Given the description of an element on the screen output the (x, y) to click on. 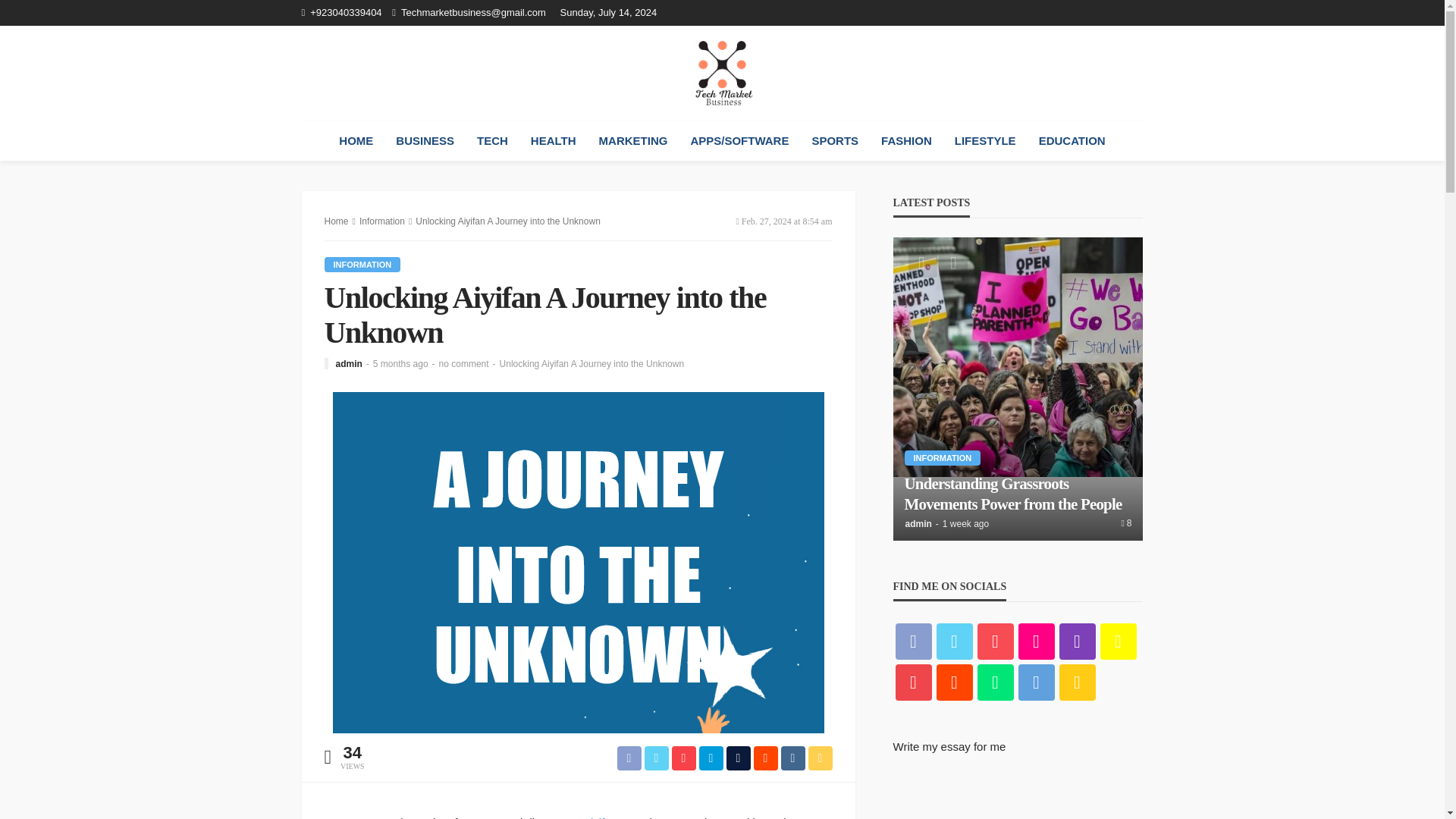
INFORMATION (362, 264)
HEALTH (553, 140)
Home (336, 221)
EDUCATION (1071, 140)
Home (722, 72)
no comment (464, 363)
TECH (492, 140)
HOME (355, 140)
SPORTS (834, 140)
BUSINESS (424, 140)
Unlocking Aiyifan A Journey into the Unknown (591, 363)
admin (347, 363)
Information (381, 221)
MARKETING (633, 140)
FASHION (906, 140)
